Given the description of an element on the screen output the (x, y) to click on. 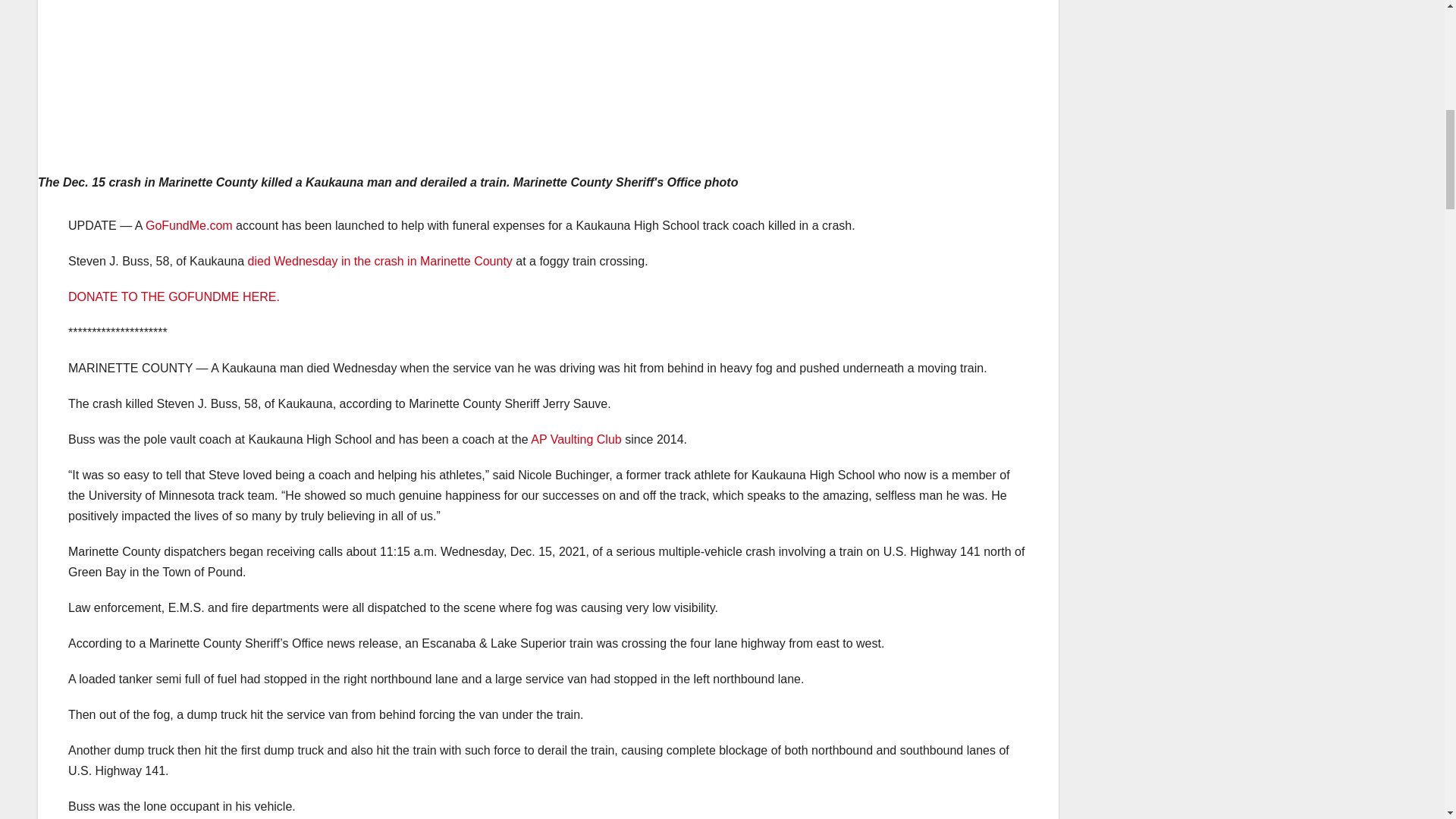
GoFundMe.com (188, 225)
AP Vaulting Club (576, 439)
died Wednesday in the crash in Marinette County (379, 260)
DONATE TO THE GOFUNDME HERE. (173, 296)
